Given the description of an element on the screen output the (x, y) to click on. 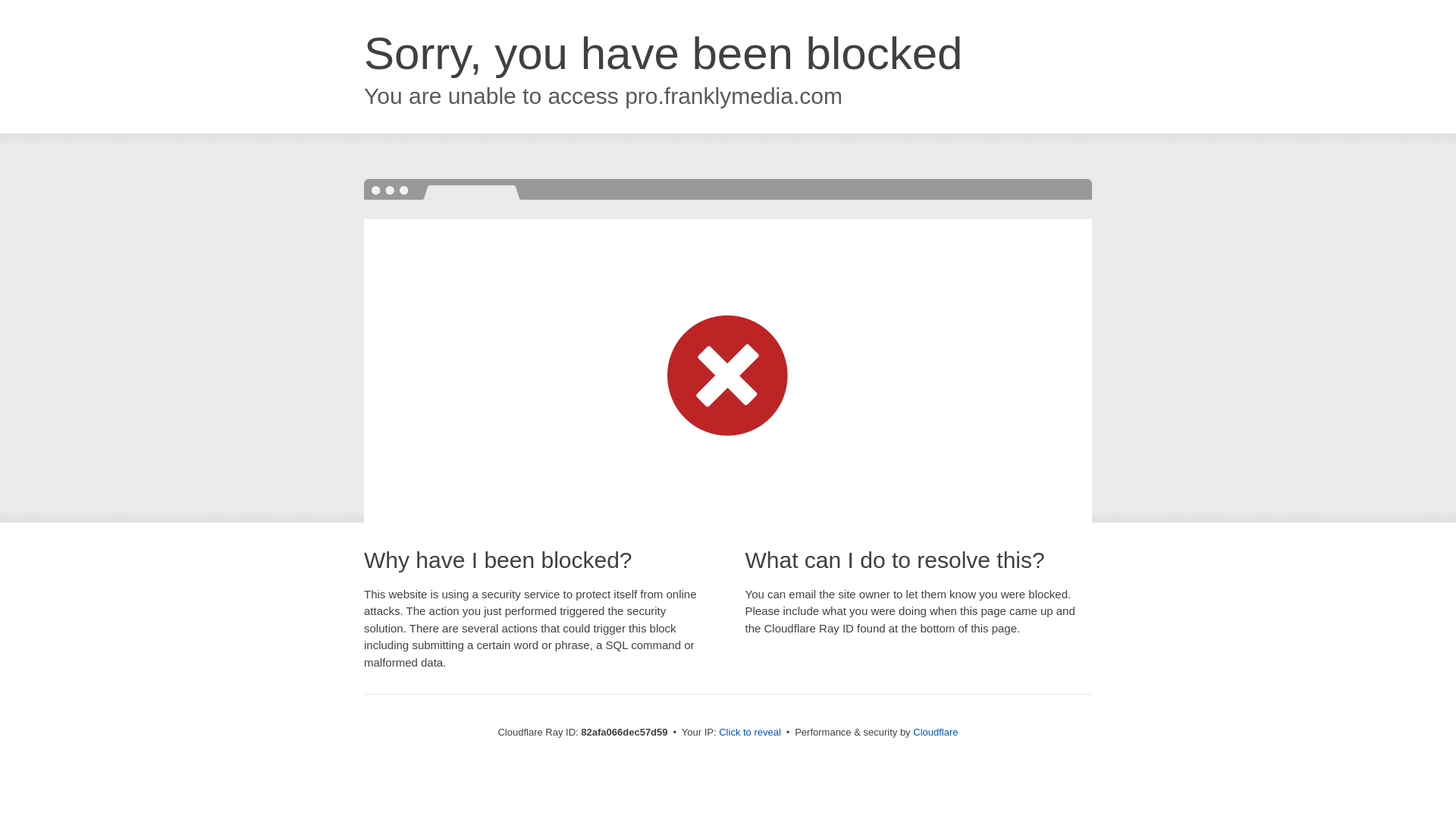
Cloudflare Element type: text (935, 731)
Click to reveal Element type: text (749, 732)
